Given the description of an element on the screen output the (x, y) to click on. 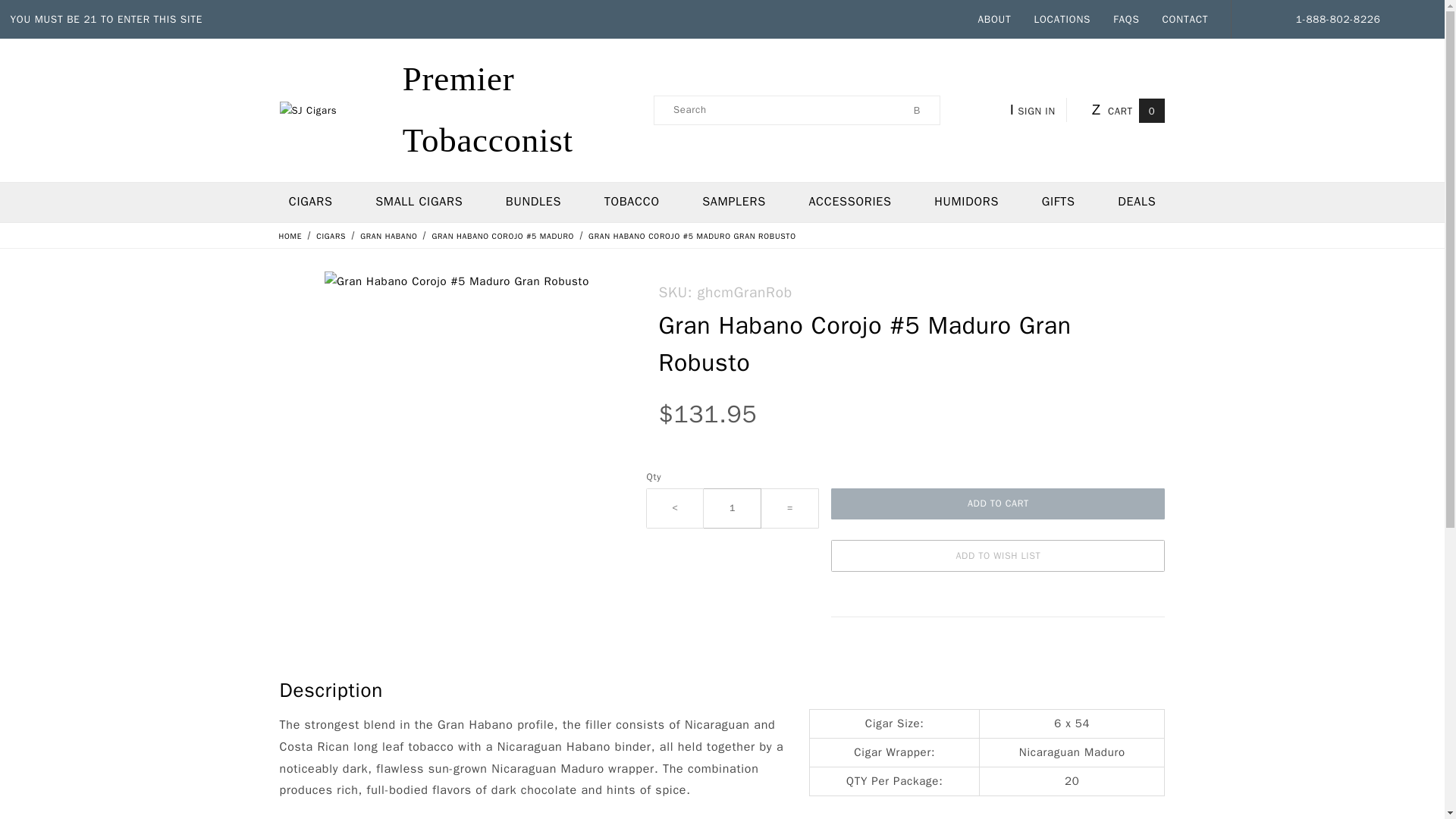
SIGN IN (1035, 109)
DEALS (1136, 202)
SJ Cigars (459, 109)
Sign In (1049, 303)
LOCATIONS (1061, 19)
Gran Habano (389, 235)
CONTACT (1184, 19)
SMALL CIGARS (418, 202)
GIFTS (1058, 202)
Add To Cart (997, 504)
About (994, 19)
Locations (1061, 19)
Add To Cart (997, 504)
CIGARS (332, 235)
Contact (1184, 19)
